Given the description of an element on the screen output the (x, y) to click on. 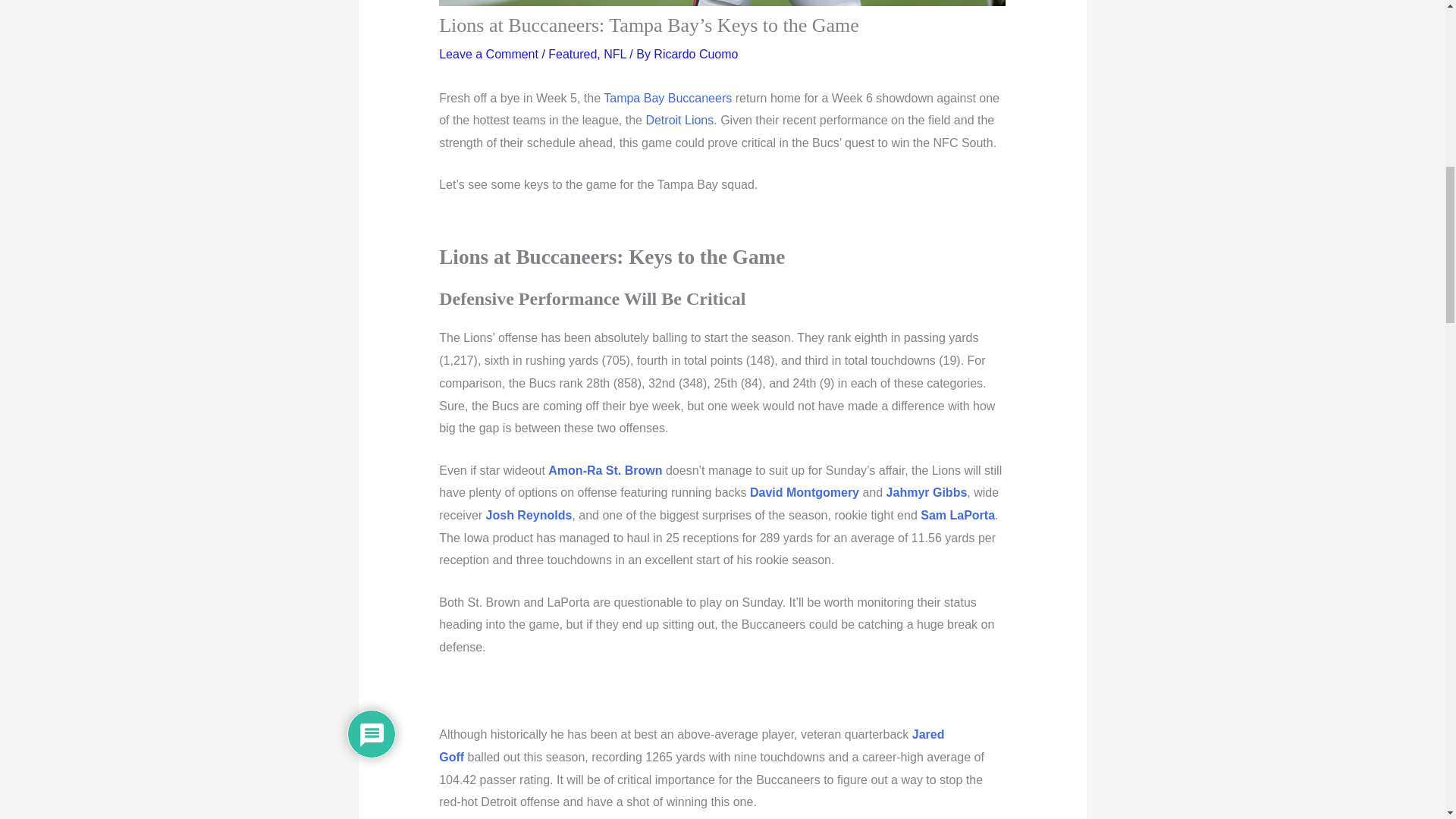
Tampa Bay Buccaneers (668, 97)
View all posts by Ricardo Cuomo (695, 53)
Ricardo Cuomo (695, 53)
Jahmyr Gibbs (927, 492)
David Montgomery (804, 492)
Josh Reynolds (529, 514)
Leave a Comment (488, 53)
Jared Goff (691, 745)
Featured (572, 53)
